Given the description of an element on the screen output the (x, y) to click on. 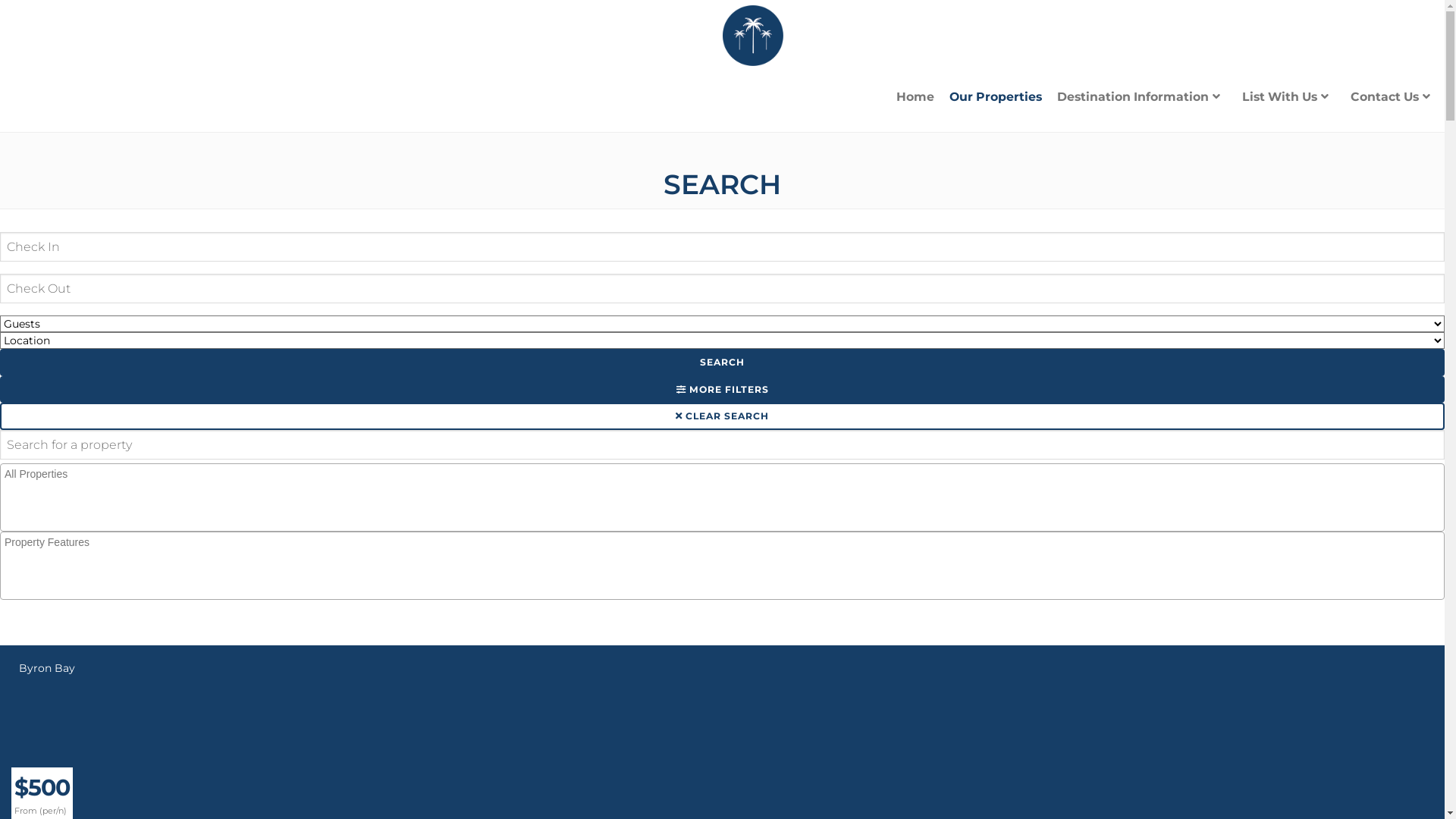
Home Element type: text (915, 96)
Destination Information Element type: text (1141, 96)
SEARCH Element type: text (722, 362)
East Coast Escapes Element type: hover (751, 35)
Our Properties Element type: text (995, 96)
Contact Us Element type: text (1393, 96)
List With Us Element type: text (1288, 96)
